Given the description of an element on the screen output the (x, y) to click on. 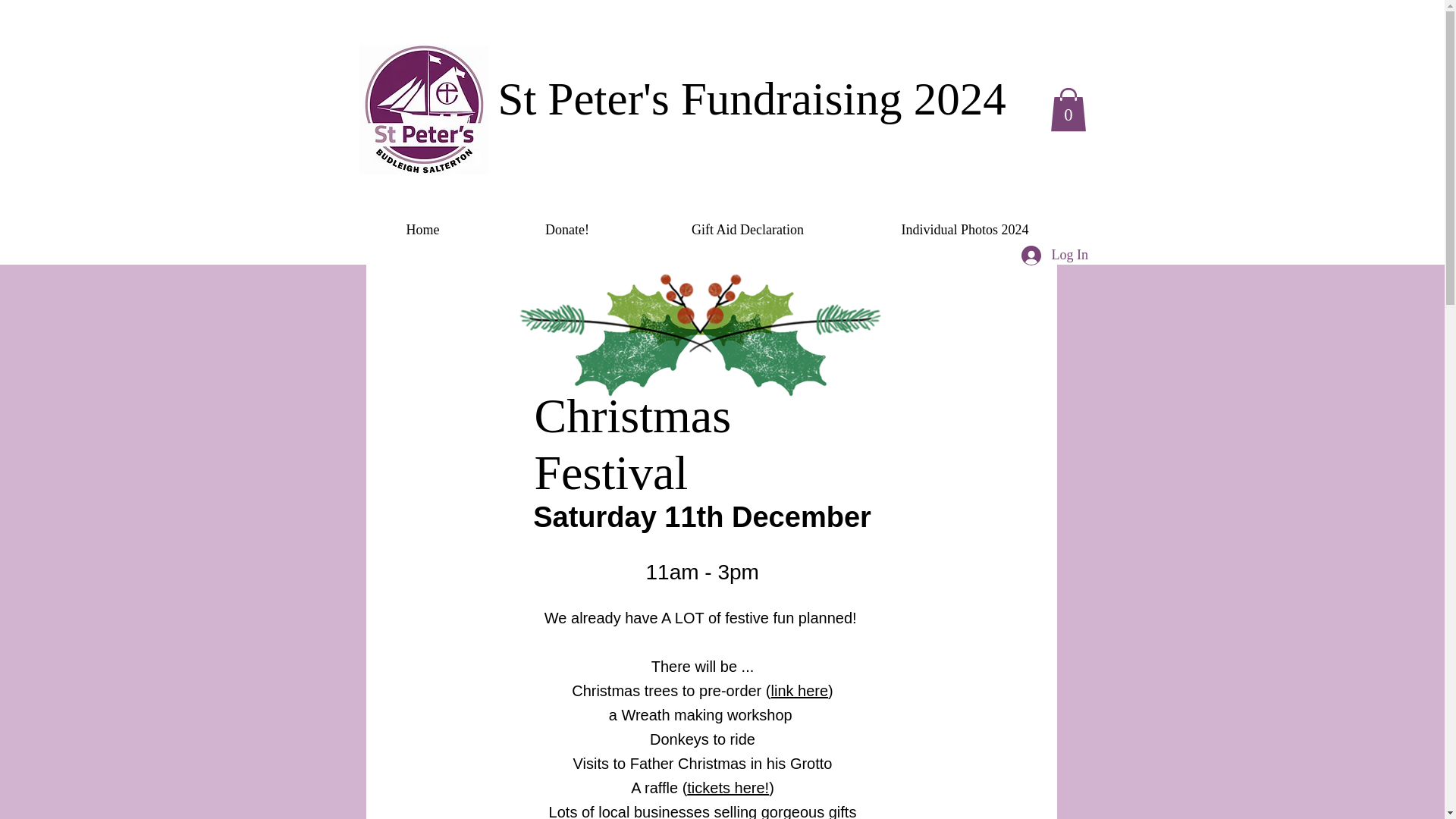
Donate! (567, 230)
Home (422, 230)
link here (799, 690)
Individual Photos 2024 (964, 230)
tickets here! (727, 787)
Log In (1051, 255)
Gift Aid Declaration (748, 230)
